Given the description of an element on the screen output the (x, y) to click on. 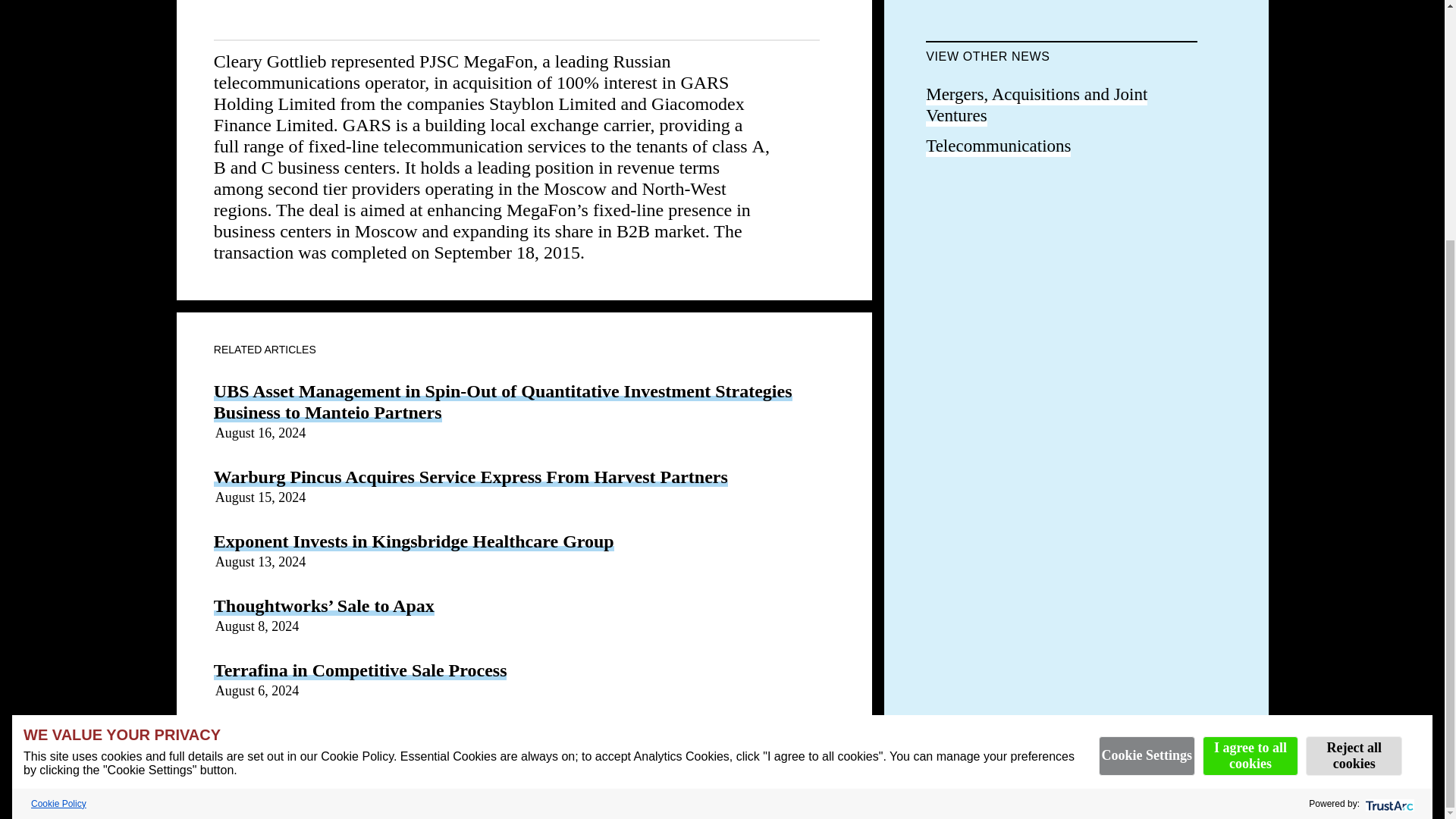
Site Map (724, 752)
Privacy (483, 752)
Alumni Login (269, 752)
Legal Notices (563, 752)
Contact Us (652, 752)
